Given the description of an element on the screen output the (x, y) to click on. 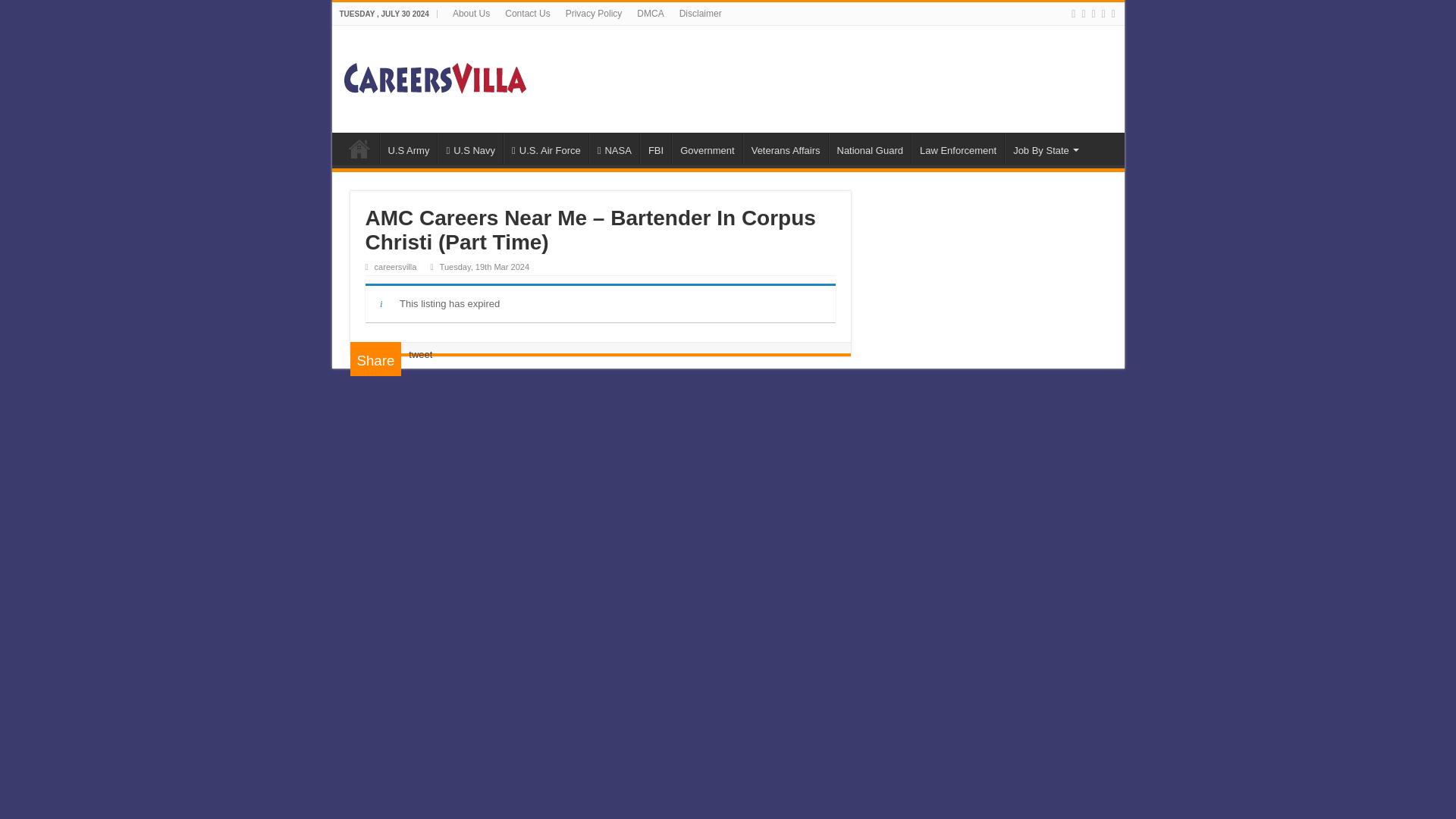
Job By State (1044, 148)
Law Enforcement (957, 148)
FBI (655, 148)
DMCA (649, 13)
National Guard (869, 148)
U.S. Air Force (545, 148)
Government (706, 148)
Privacy Policy (593, 13)
Contact Us (527, 13)
Veterans Affairs (785, 148)
U.S Navy (470, 148)
U.S Army (407, 148)
Disclaimer (700, 13)
About Us (471, 13)
NASA (614, 148)
